Given the description of an element on the screen output the (x, y) to click on. 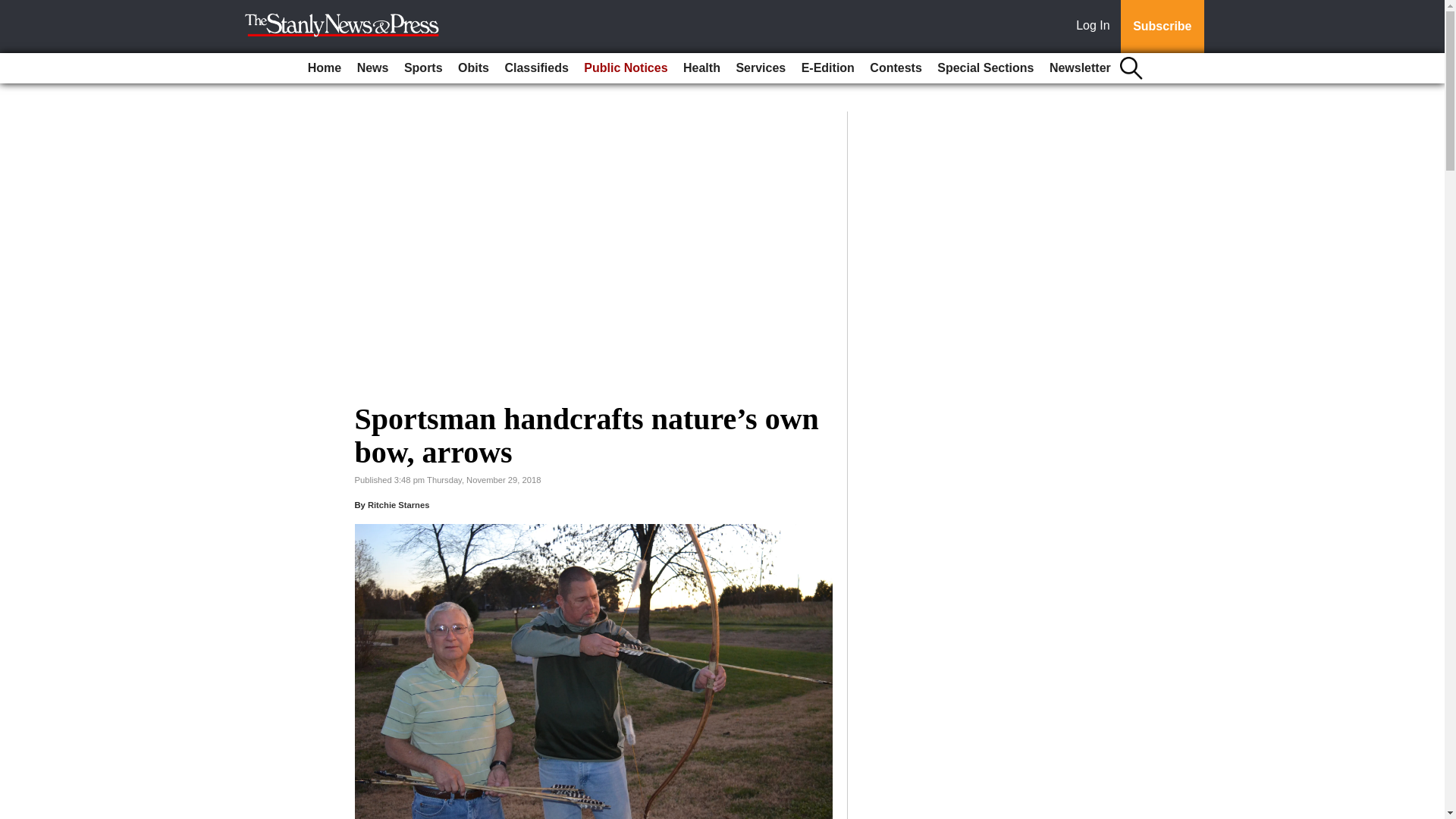
Sports (422, 68)
Contests (895, 68)
Special Sections (985, 68)
Health (701, 68)
Log In (1095, 26)
Services (760, 68)
Subscribe (1162, 26)
E-Edition (827, 68)
Go (13, 9)
Public Notices (625, 68)
Ritchie Starnes (398, 504)
Obits (473, 68)
Classifieds (535, 68)
Home (324, 68)
Newsletter (1079, 68)
